Given the description of an element on the screen output the (x, y) to click on. 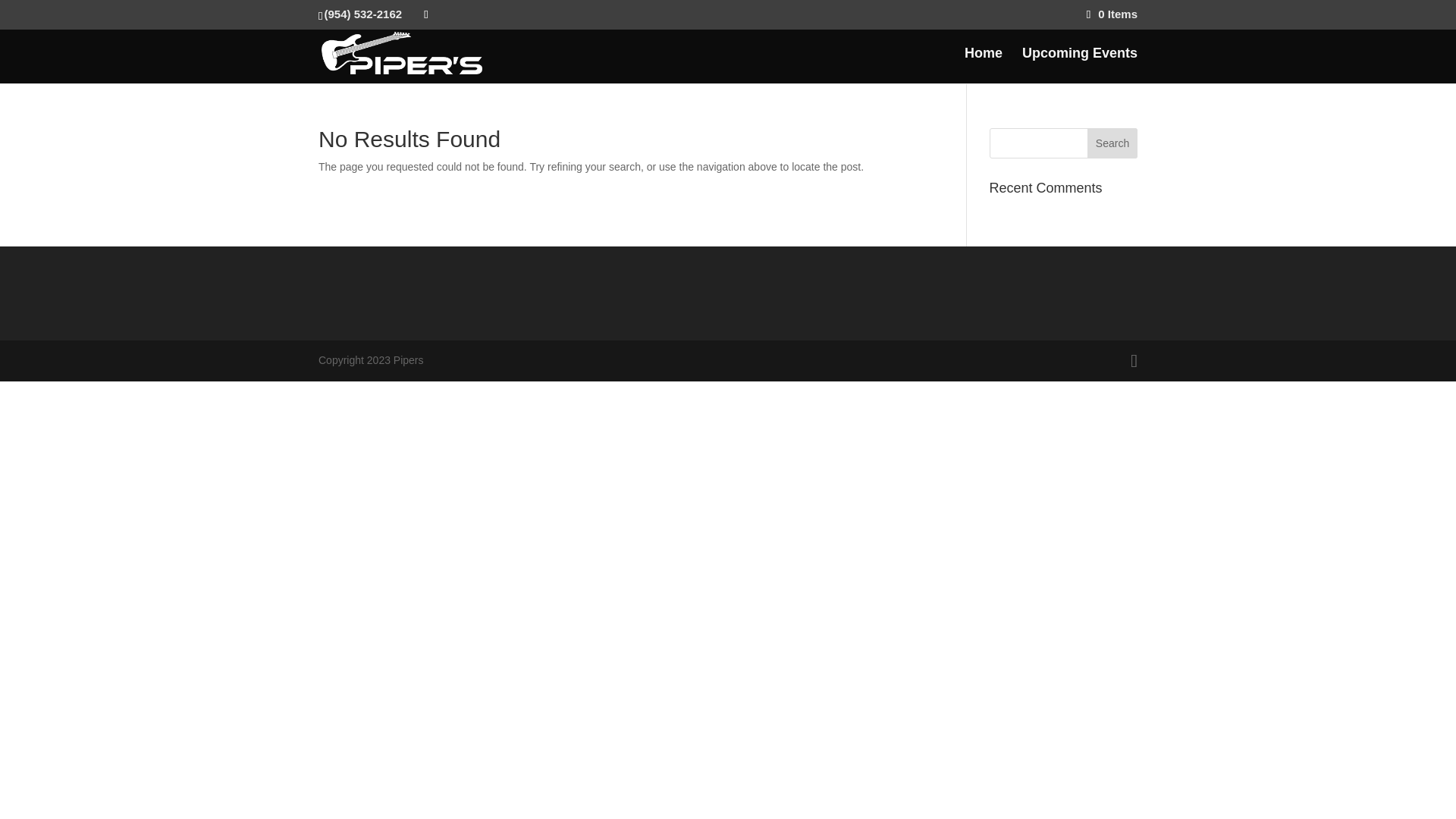
0 Items (1111, 13)
Search (1112, 142)
Search (1112, 142)
Home (983, 65)
Upcoming Events (1079, 65)
